Given the description of an element on the screen output the (x, y) to click on. 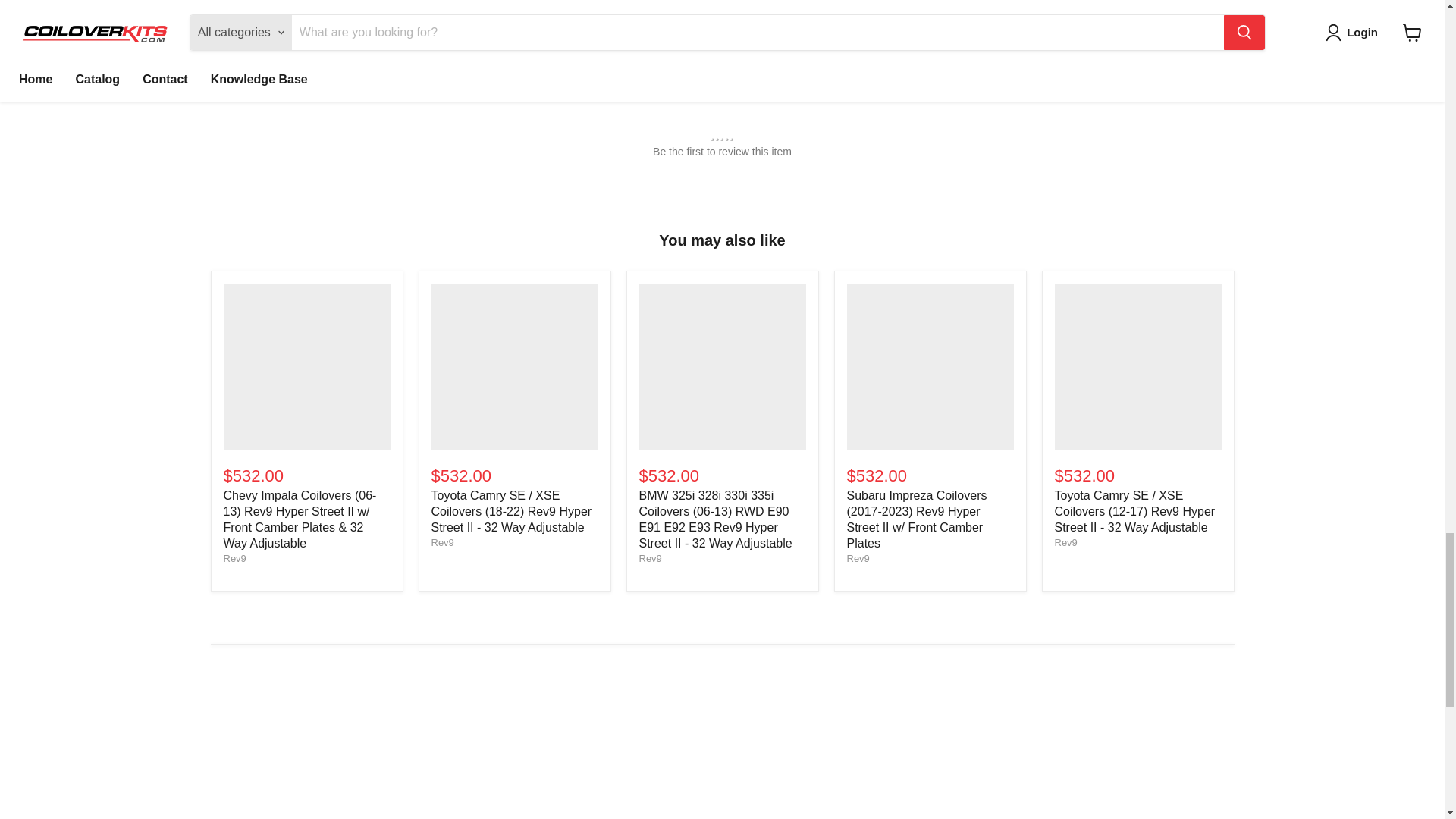
Rev9 (650, 558)
Rev9 (1065, 542)
Rev9 (234, 558)
Rev9 (857, 558)
Rev9 (441, 542)
